Given the description of an element on the screen output the (x, y) to click on. 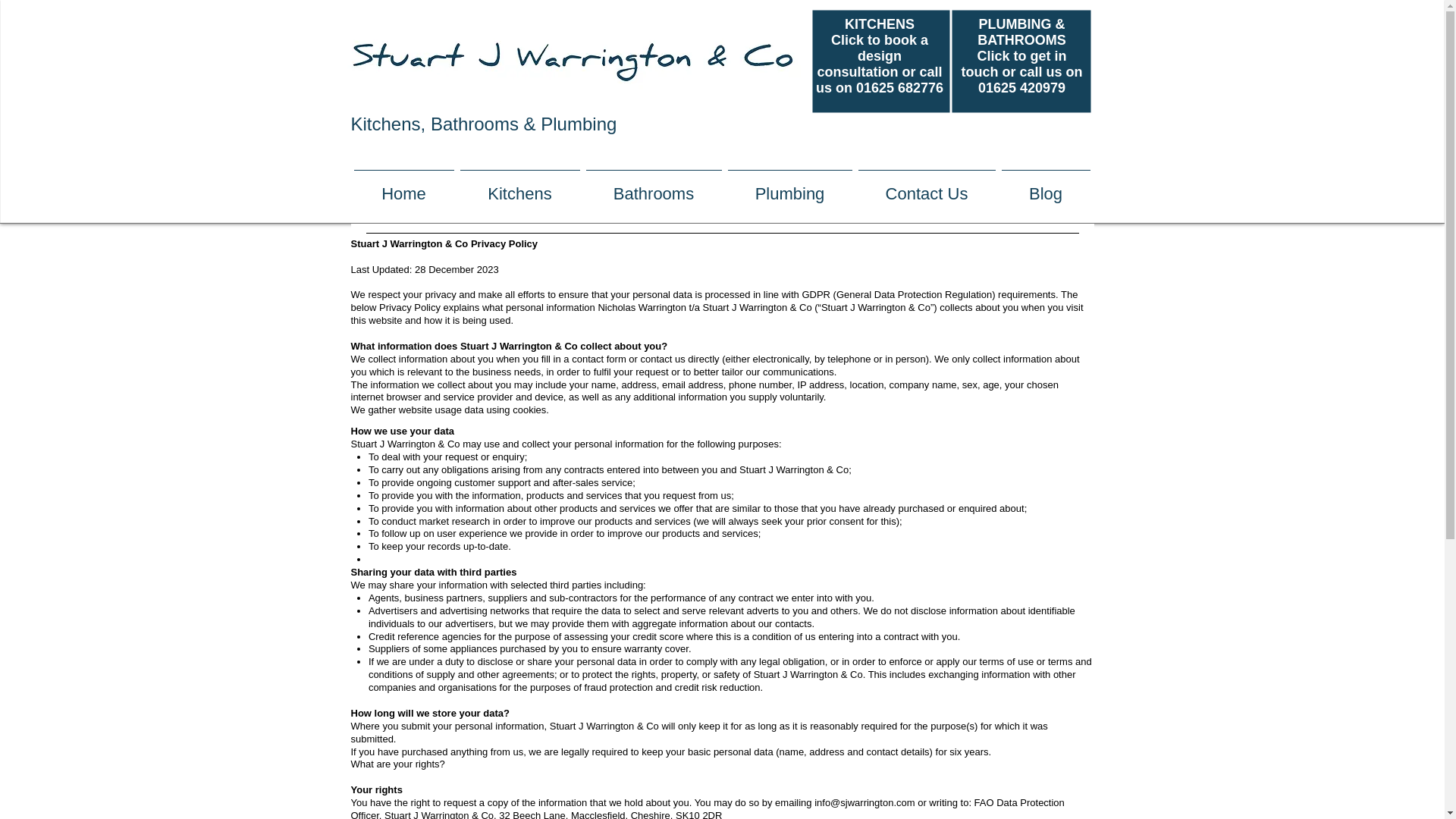
or call us on 01625 420979 (1030, 79)
Plumbing (790, 186)
Bathrooms (652, 186)
Kitchens (519, 186)
Contact Us (927, 186)
Blog (1045, 186)
Home (403, 186)
